Given the description of an element on the screen output the (x, y) to click on. 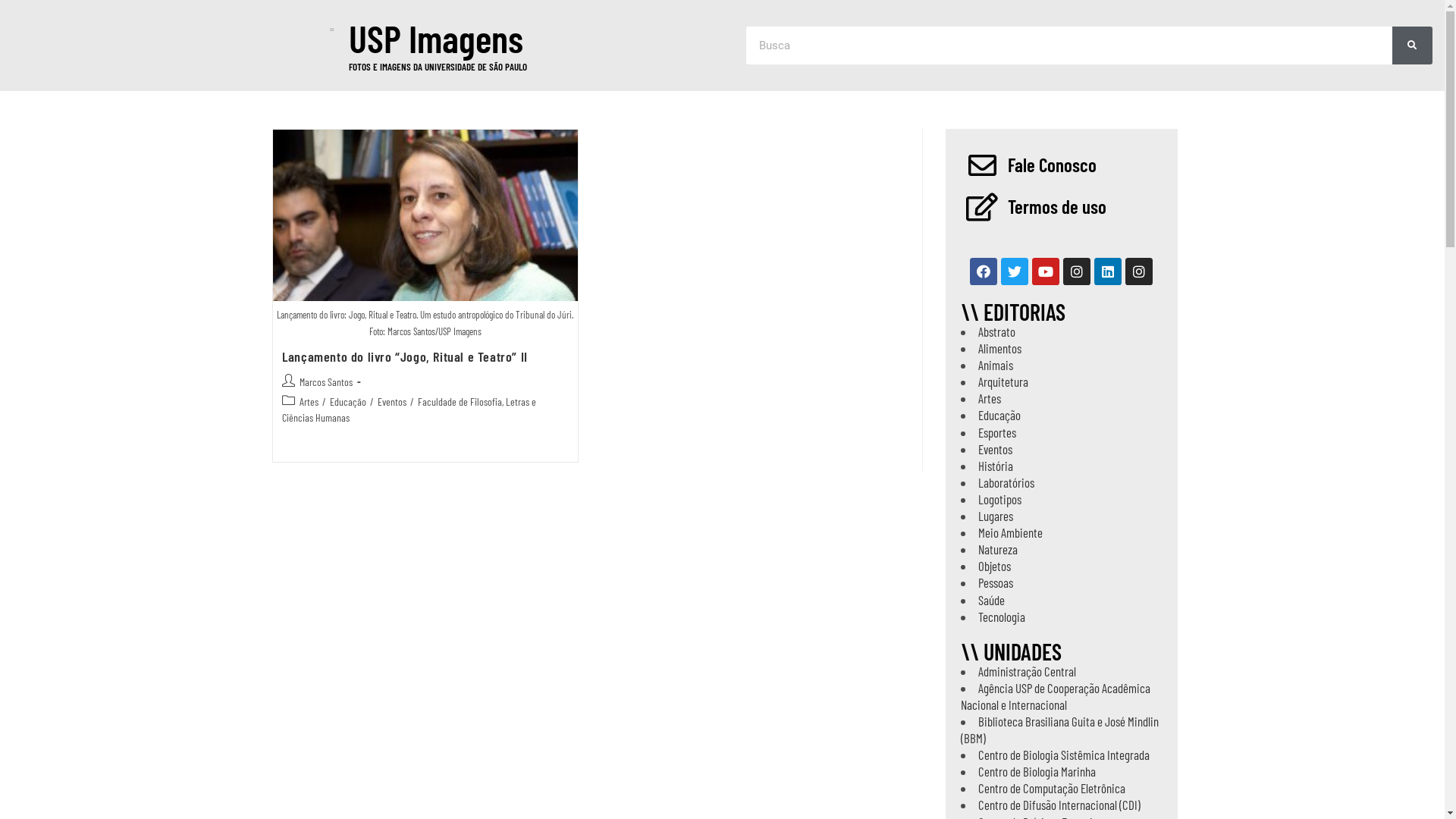
Search Element type: hover (1411, 45)
Logotipos Element type: text (999, 498)
Search Element type: hover (1069, 45)
Artes Element type: text (308, 401)
Esportes Element type: text (997, 431)
Meio Ambiente Element type: text (1010, 531)
Lugares Element type: text (995, 515)
Marcos Santos Element type: text (325, 381)
Natureza Element type: text (997, 548)
Animais Element type: text (995, 364)
Alimentos Element type: text (999, 347)
Objetos Element type: text (994, 565)
Tecnologia Element type: text (1001, 616)
Artes Element type: text (989, 397)
Abstrato Element type: text (996, 330)
Eventos Element type: text (995, 448)
Fale Conosco Element type: text (1051, 164)
Termos de uso Element type: text (1056, 205)
Centro de Biologia Marinha Element type: text (1036, 770)
Arquitetura Element type: text (1003, 381)
USP Imagens Element type: text (435, 37)
Eventos Element type: text (391, 401)
Pessoas Element type: text (995, 581)
